Given the description of an element on the screen output the (x, y) to click on. 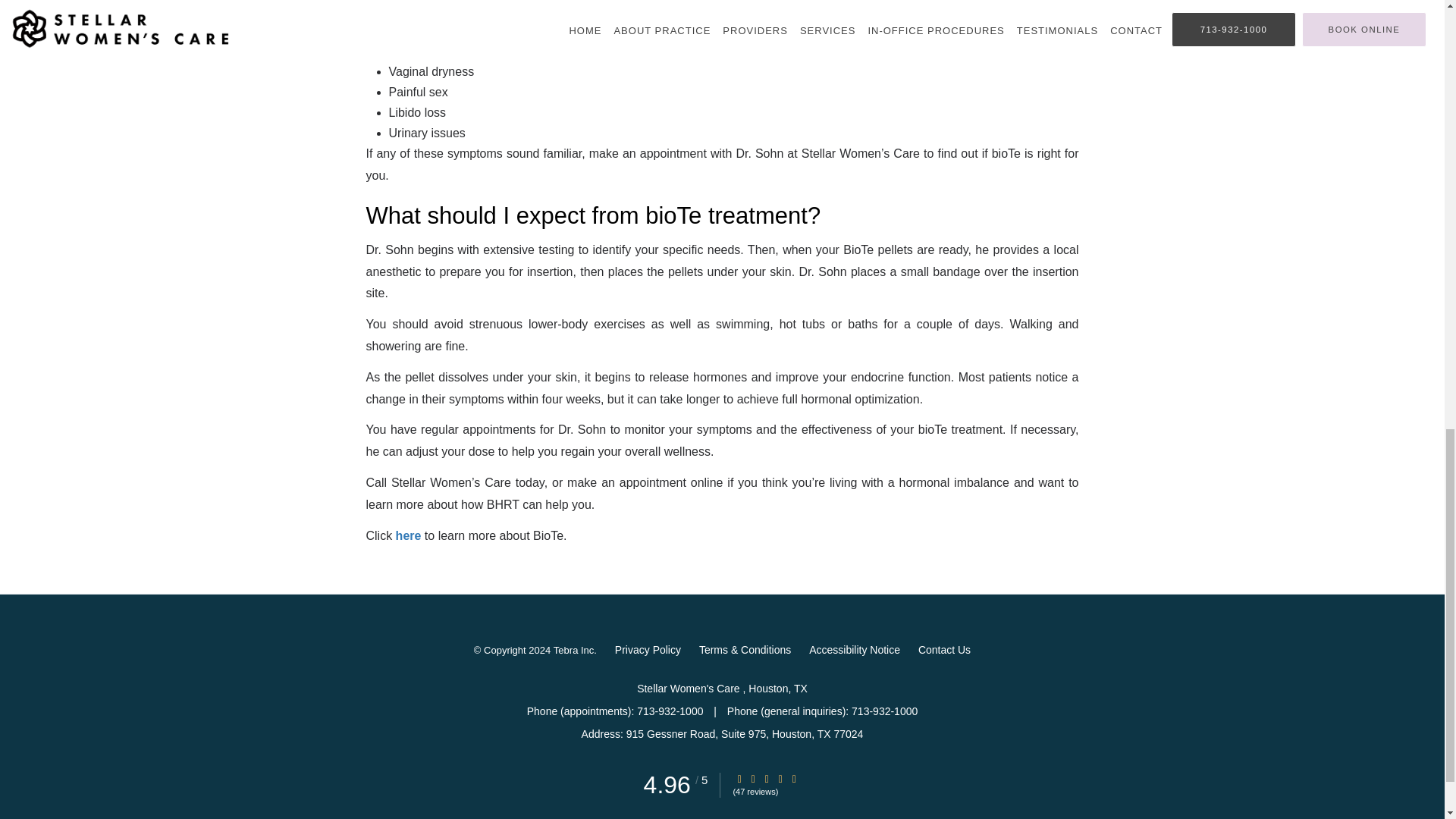
Star Rating (766, 778)
Star Rating (780, 778)
Star Rating (738, 778)
Star Rating (794, 778)
Star Rating (753, 778)
